Given the description of an element on the screen output the (x, y) to click on. 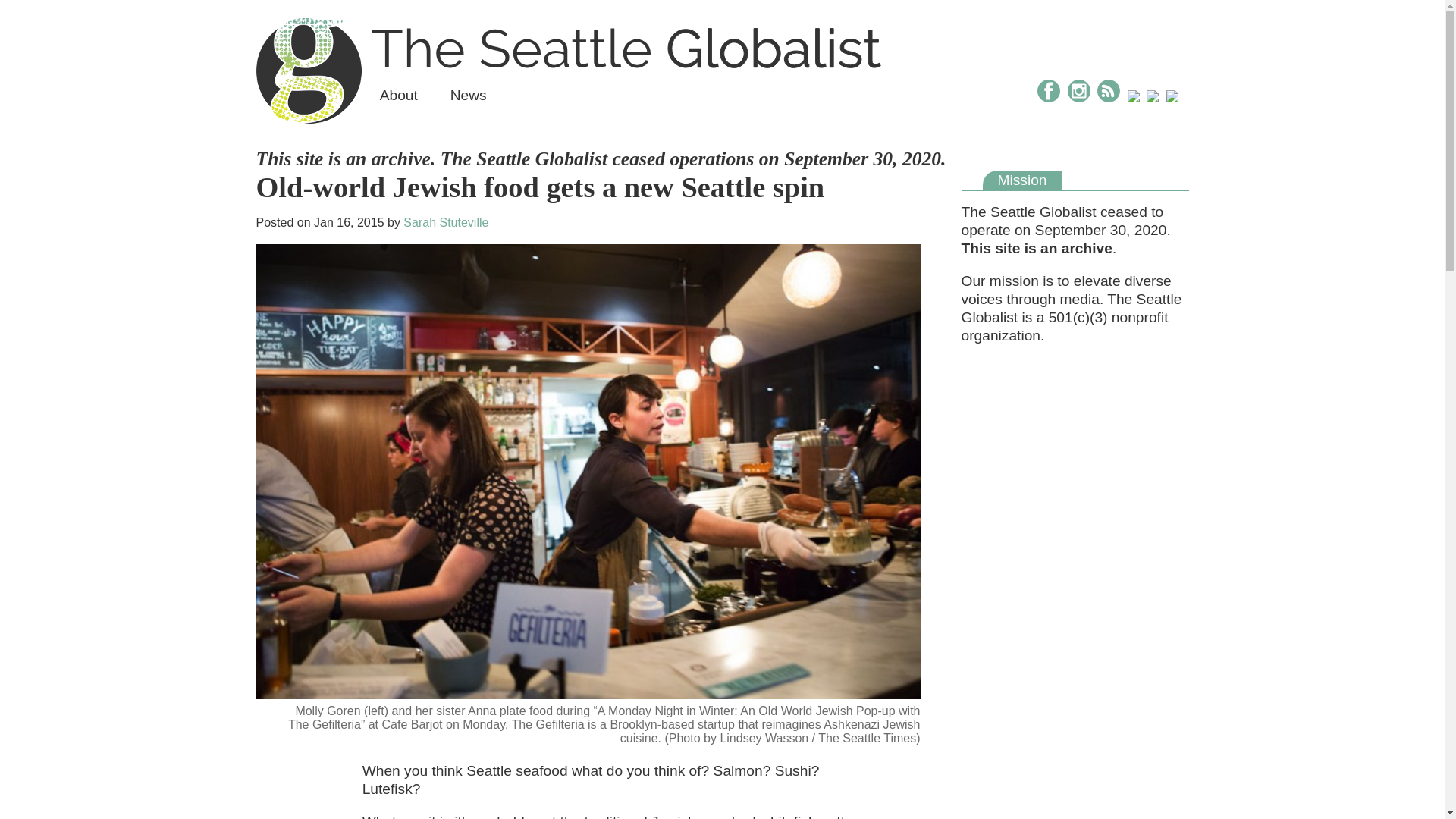
Jan 16, 2015 (349, 222)
Sarah Stuteville (445, 222)
News (467, 95)
About (398, 95)
